Given the description of an element on the screen output the (x, y) to click on. 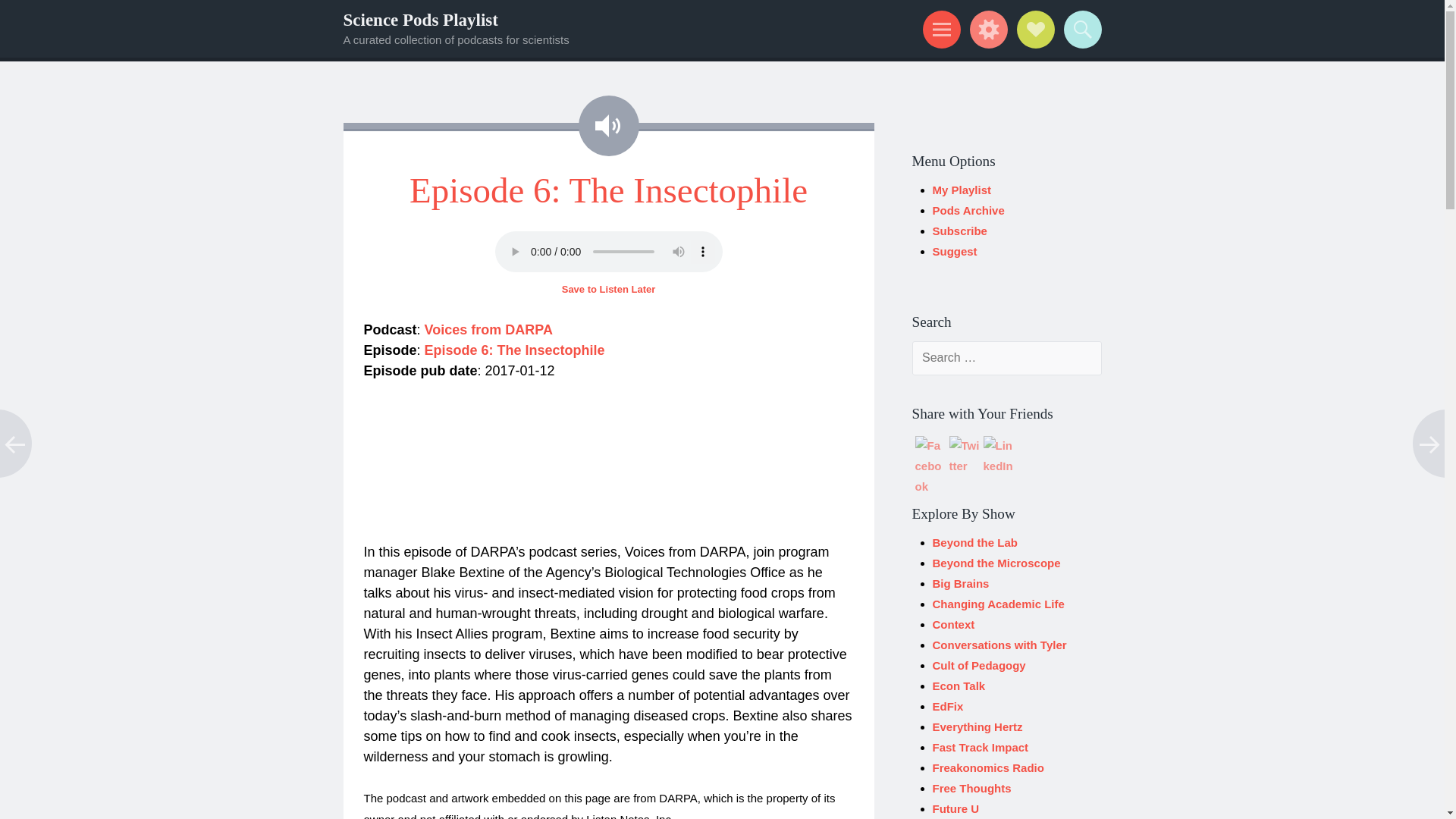
Menu (938, 29)
Widgets (985, 29)
Search (1080, 29)
Social Links (1032, 29)
Science Pods Playlist (419, 19)
All Audio posts (608, 125)
